Given the description of an element on the screen output the (x, y) to click on. 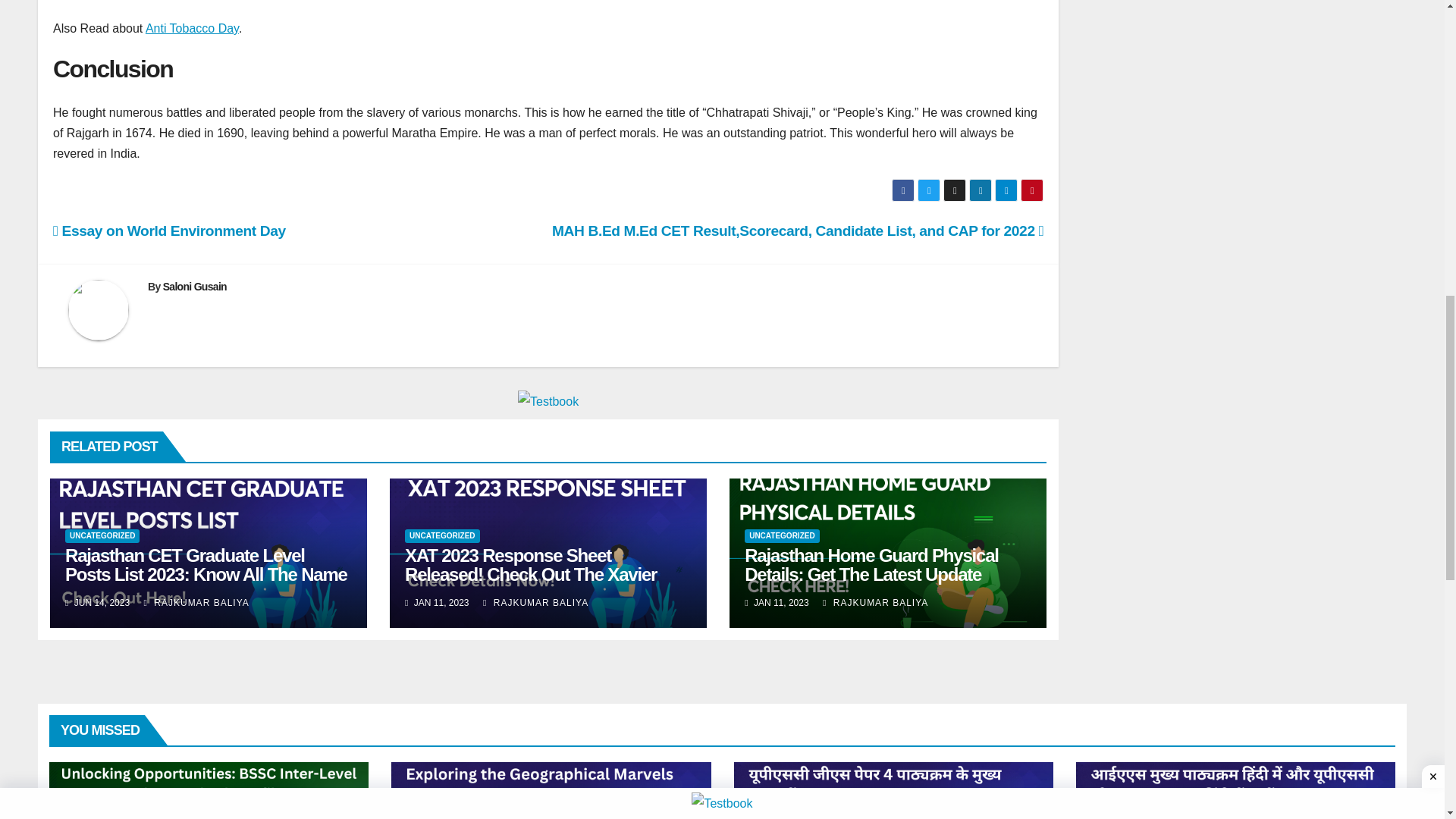
Anti Tobacco Day (191, 28)
Essay on World Environment Day (168, 230)
RAJKUMAR BALIYA (196, 602)
UNCATEGORIZED (441, 535)
UNCATEGORIZED (102, 535)
Saloni Gusain (195, 286)
